Given the description of an element on the screen output the (x, y) to click on. 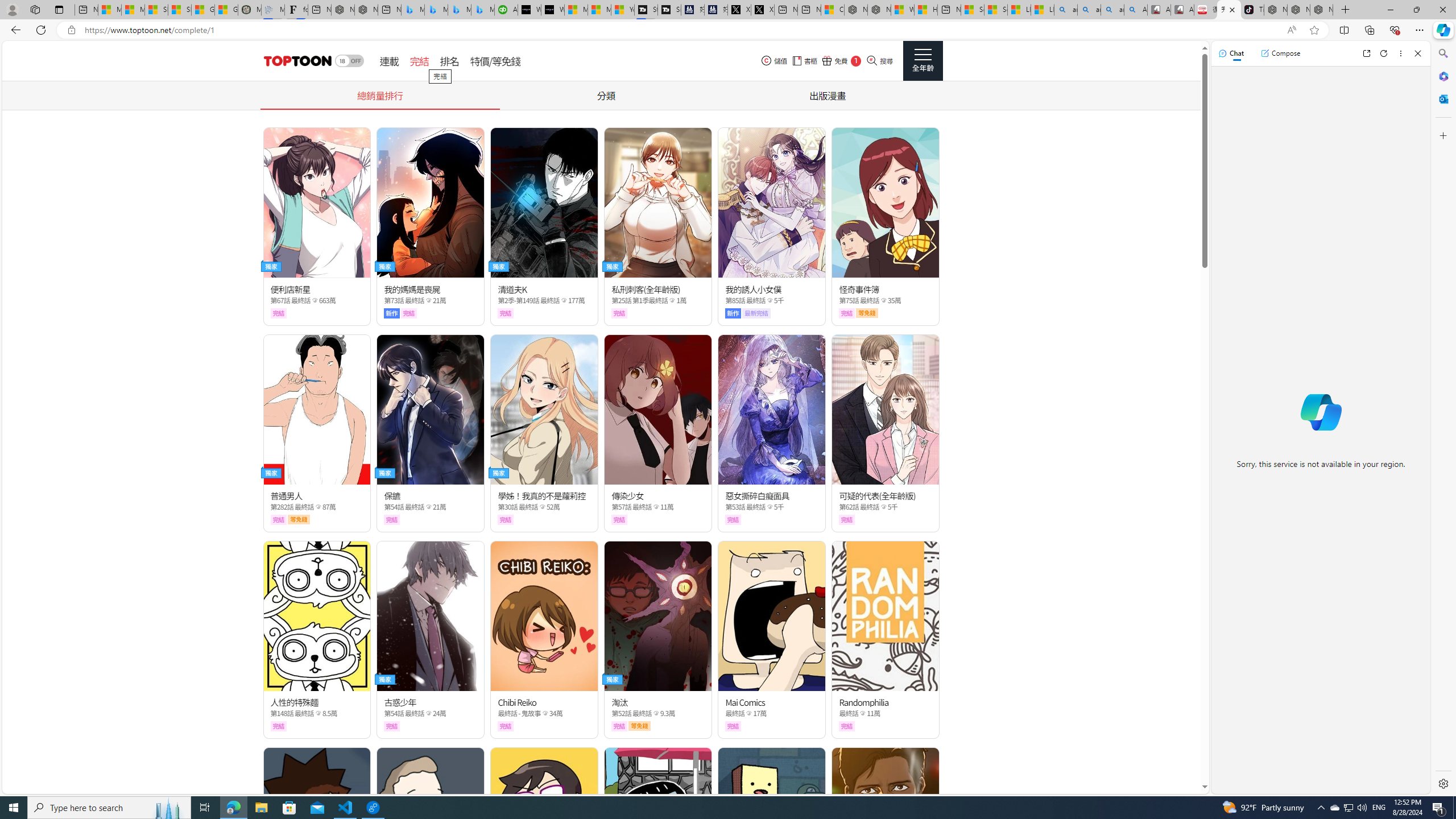
TikTok (1252, 9)
header (295, 60)
